Given the description of an element on the screen output the (x, y) to click on. 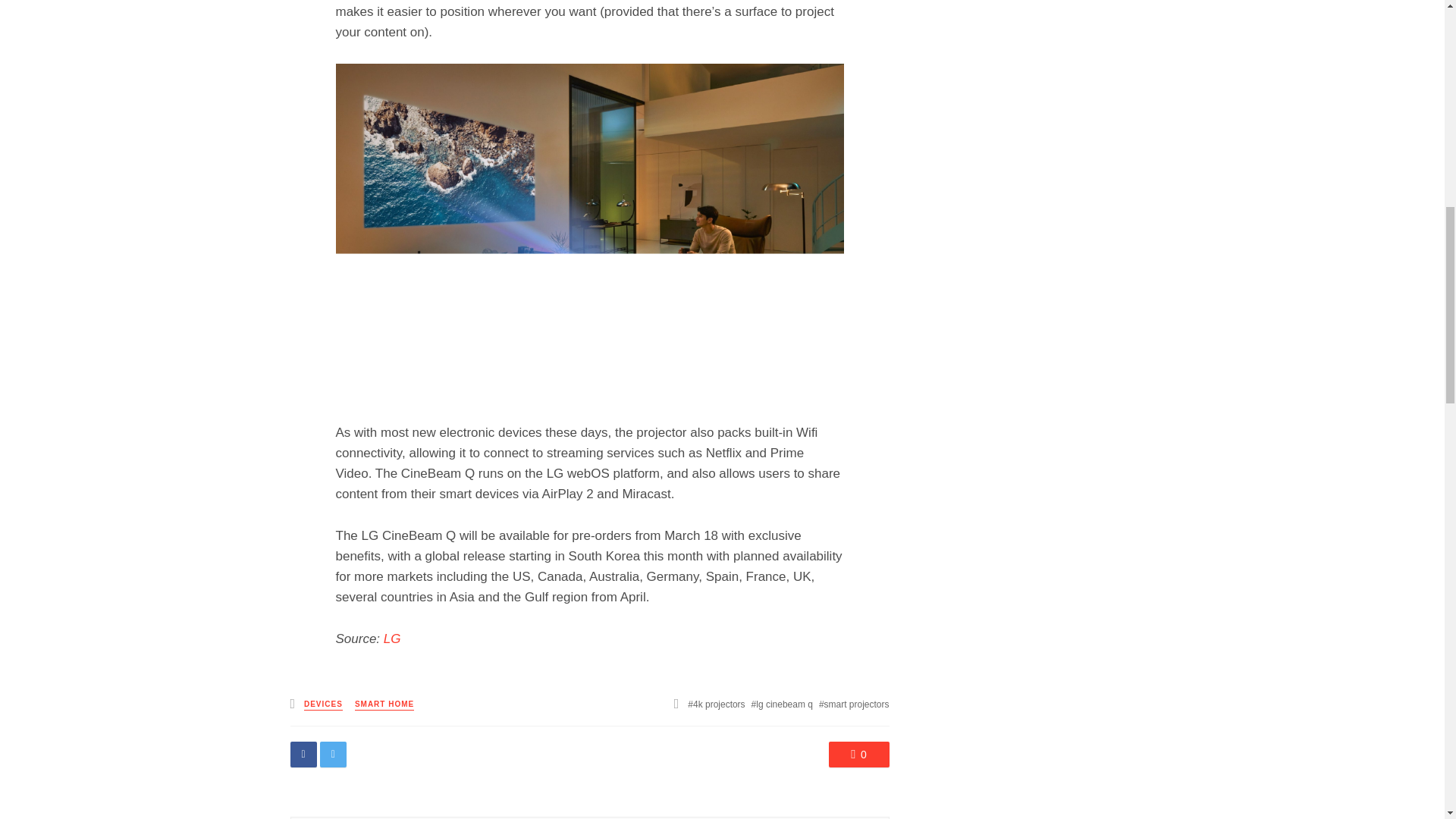
Share on Facebook (302, 754)
0 (858, 754)
Share on Twitter (333, 754)
DEVICES (323, 704)
lg cinebeam q (781, 704)
SMART HOME (384, 704)
0 Comments (858, 754)
4k projectors (715, 704)
LG (392, 638)
smart projectors (853, 704)
